Given the description of an element on the screen output the (x, y) to click on. 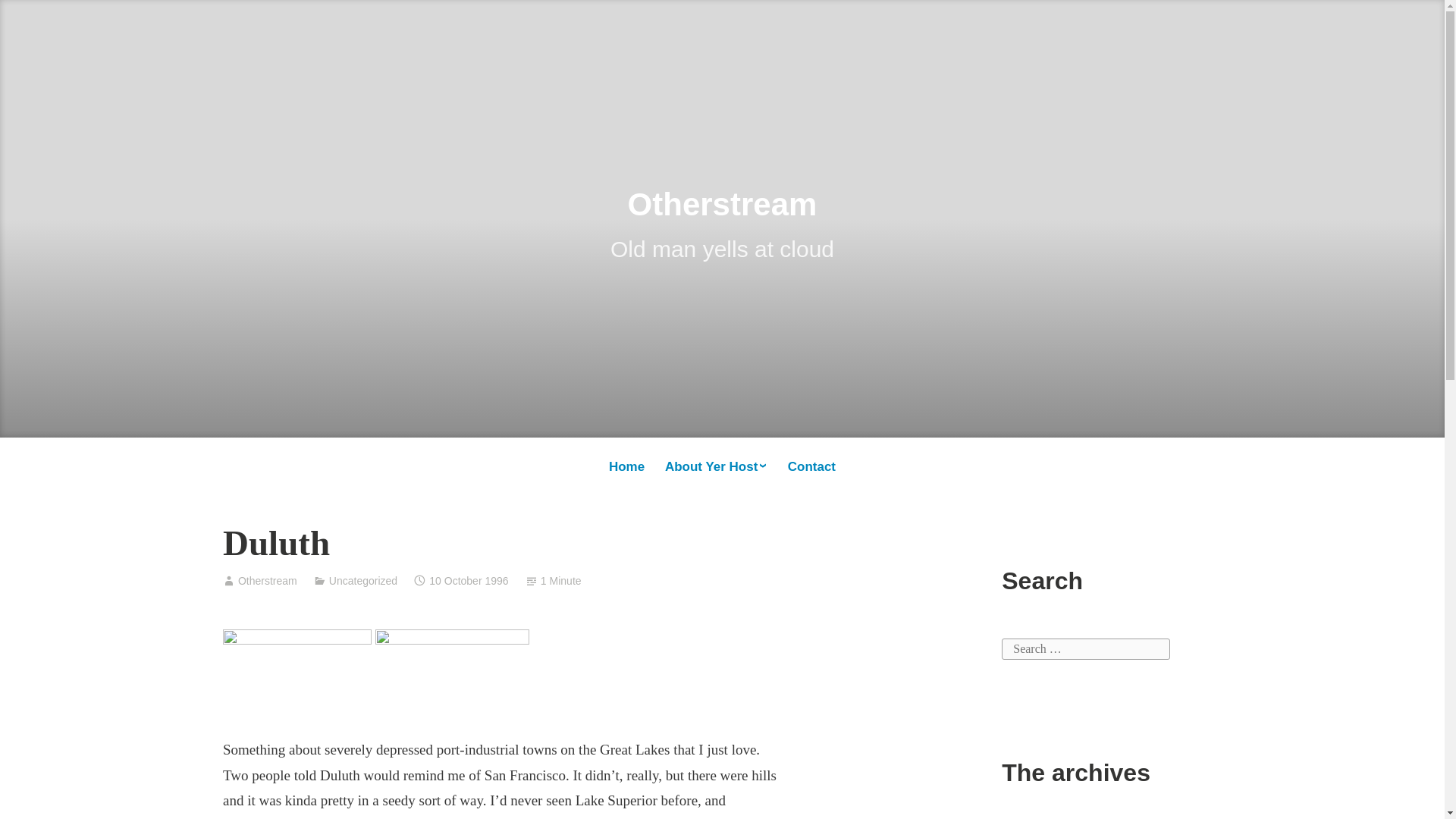
Otherstream (267, 580)
Otherstream (721, 203)
Contact (811, 466)
Home (625, 466)
Posts by Otherstream (267, 580)
About Yer Host (716, 466)
Search (30, 16)
